Given the description of an element on the screen output the (x, y) to click on. 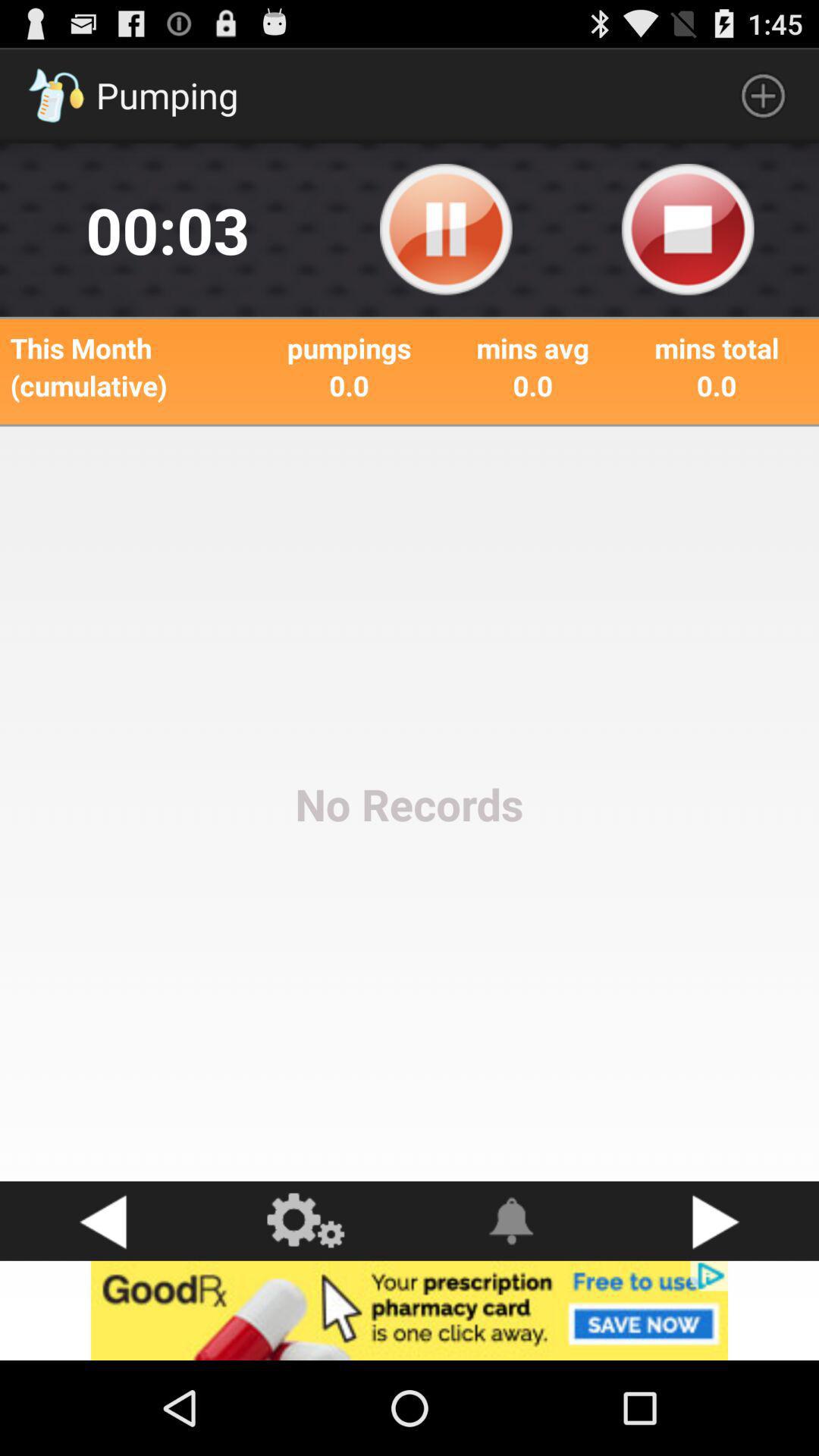
stop recording (687, 229)
